Given the description of an element on the screen output the (x, y) to click on. 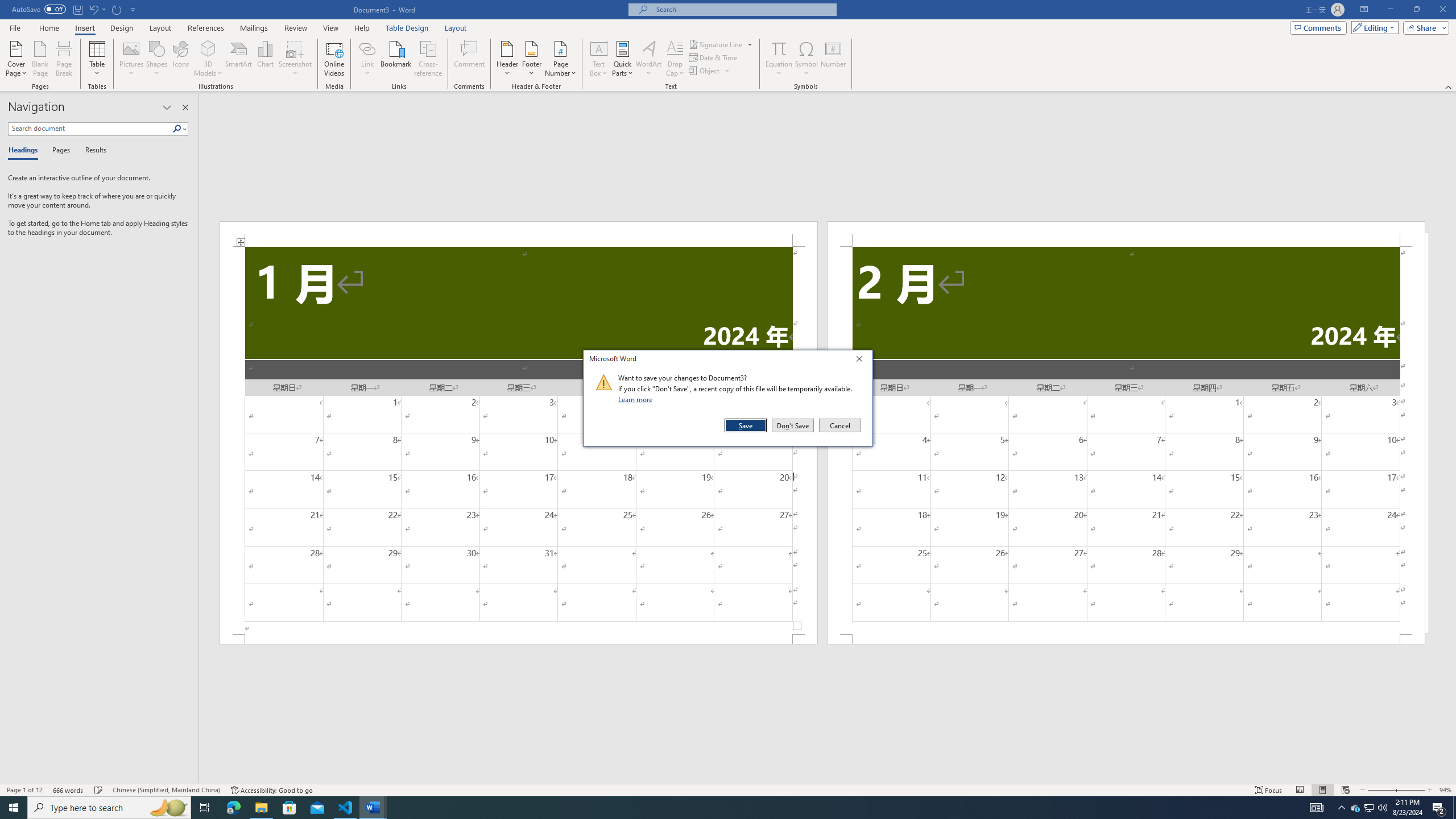
Drop Cap (674, 58)
Chart... (265, 58)
AutomationID: 4105 (1316, 807)
Undo Increase Indent (96, 9)
Microsoft search (742, 9)
Number... (833, 58)
Action Center, 2 new notifications (1439, 807)
Show desktop (1454, 807)
